Given the description of an element on the screen output the (x, y) to click on. 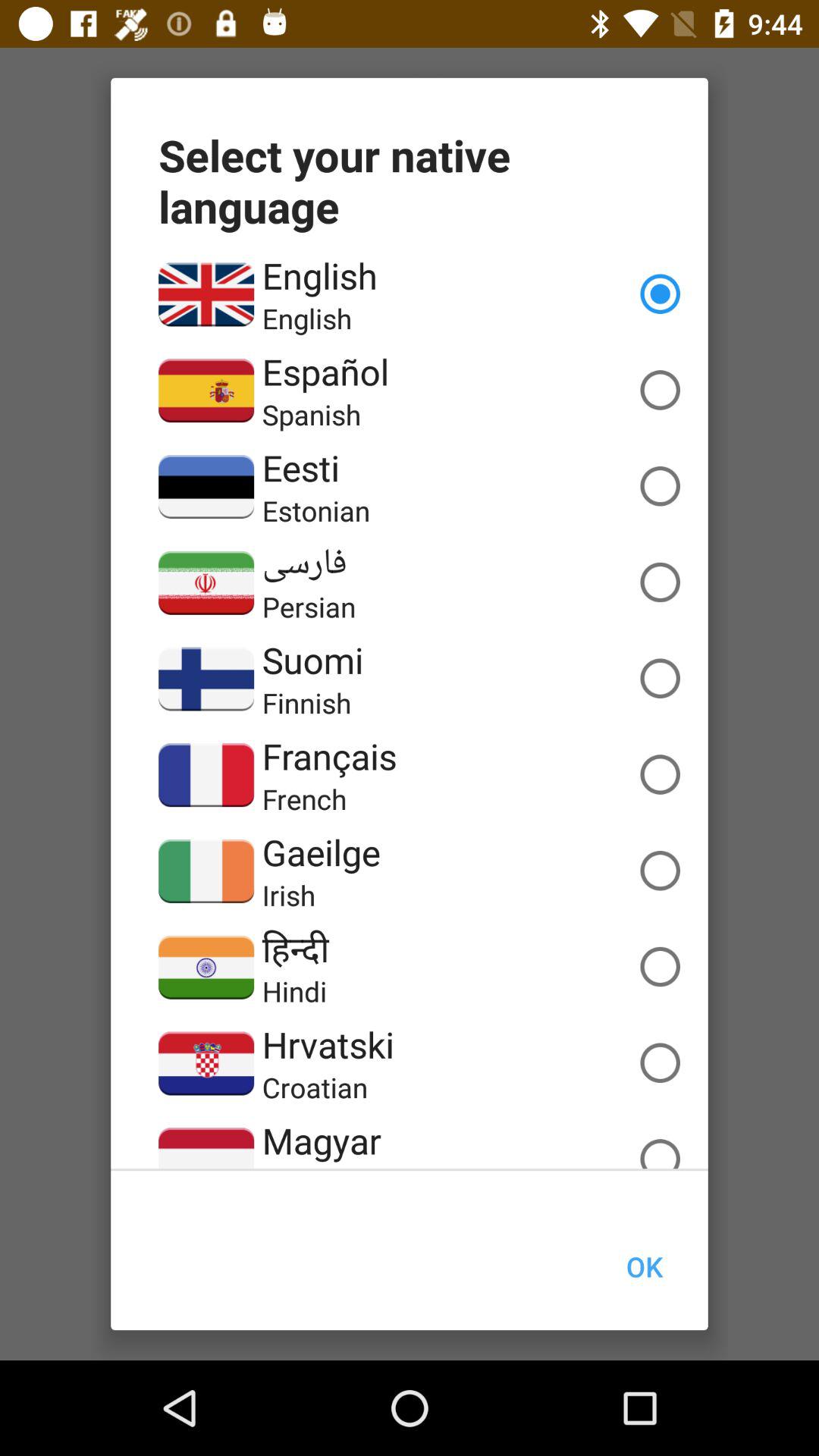
choose icon above the estonian (300, 467)
